Given the description of an element on the screen output the (x, y) to click on. 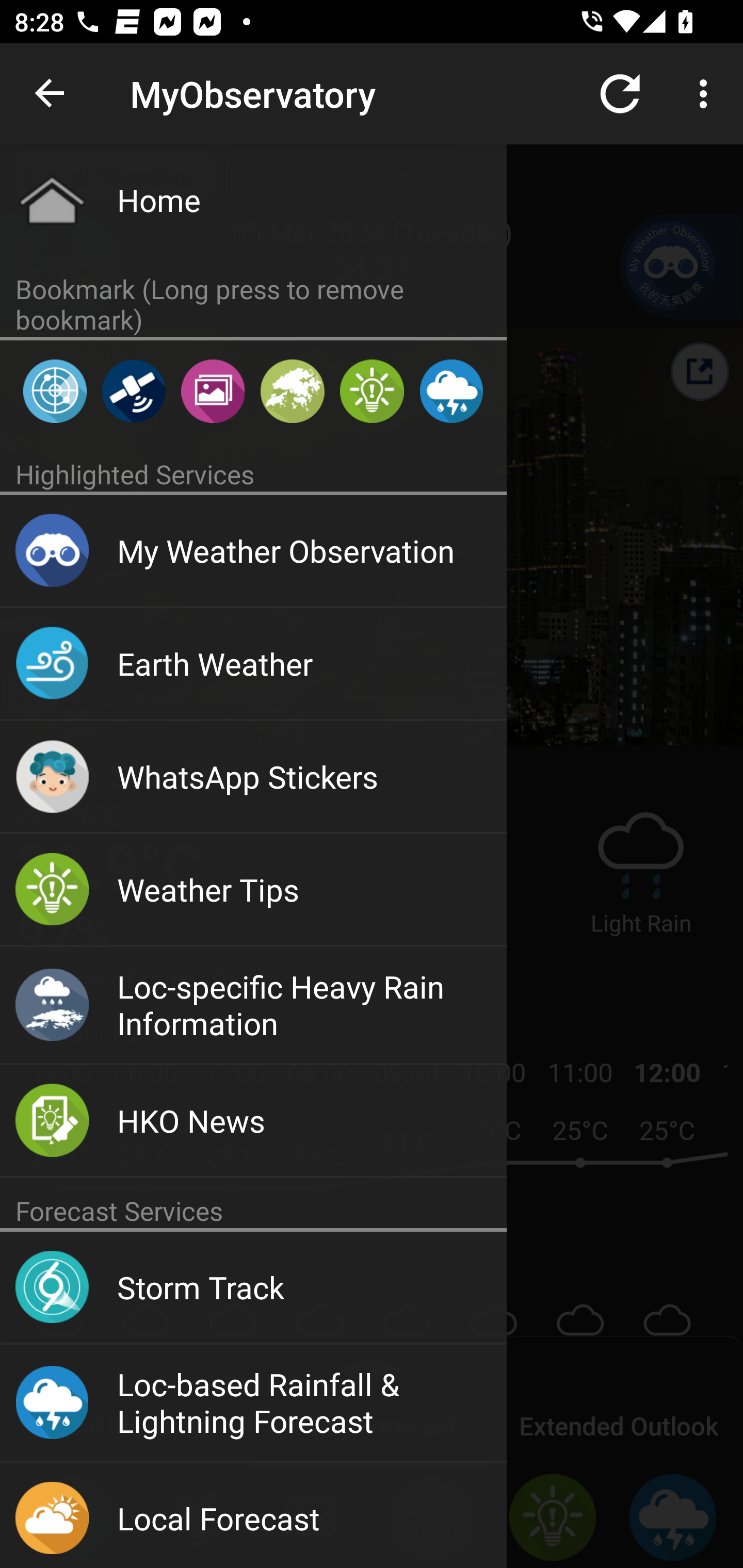
Navigate up (50, 93)
Refresh (619, 93)
More options (706, 93)
Home (253, 199)
Radar Images (54, 391)
Satellite Images (133, 391)
Weather Photos (212, 391)
Regional Weather (292, 391)
Weather Tips (371, 391)
Loc-based Rainfall & Lightning Forecast (451, 391)
My Weather Observation (253, 550)
Earth Weather (253, 664)
WhatsApp Stickers (253, 777)
Weather Tips (253, 890)
Loc-specific Heavy Rain Information (253, 1005)
HKO News (253, 1120)
Storm Track (253, 1287)
Loc-based Rainfall & Lightning Forecast (253, 1402)
Local Forecast (253, 1515)
